Given the description of an element on the screen output the (x, y) to click on. 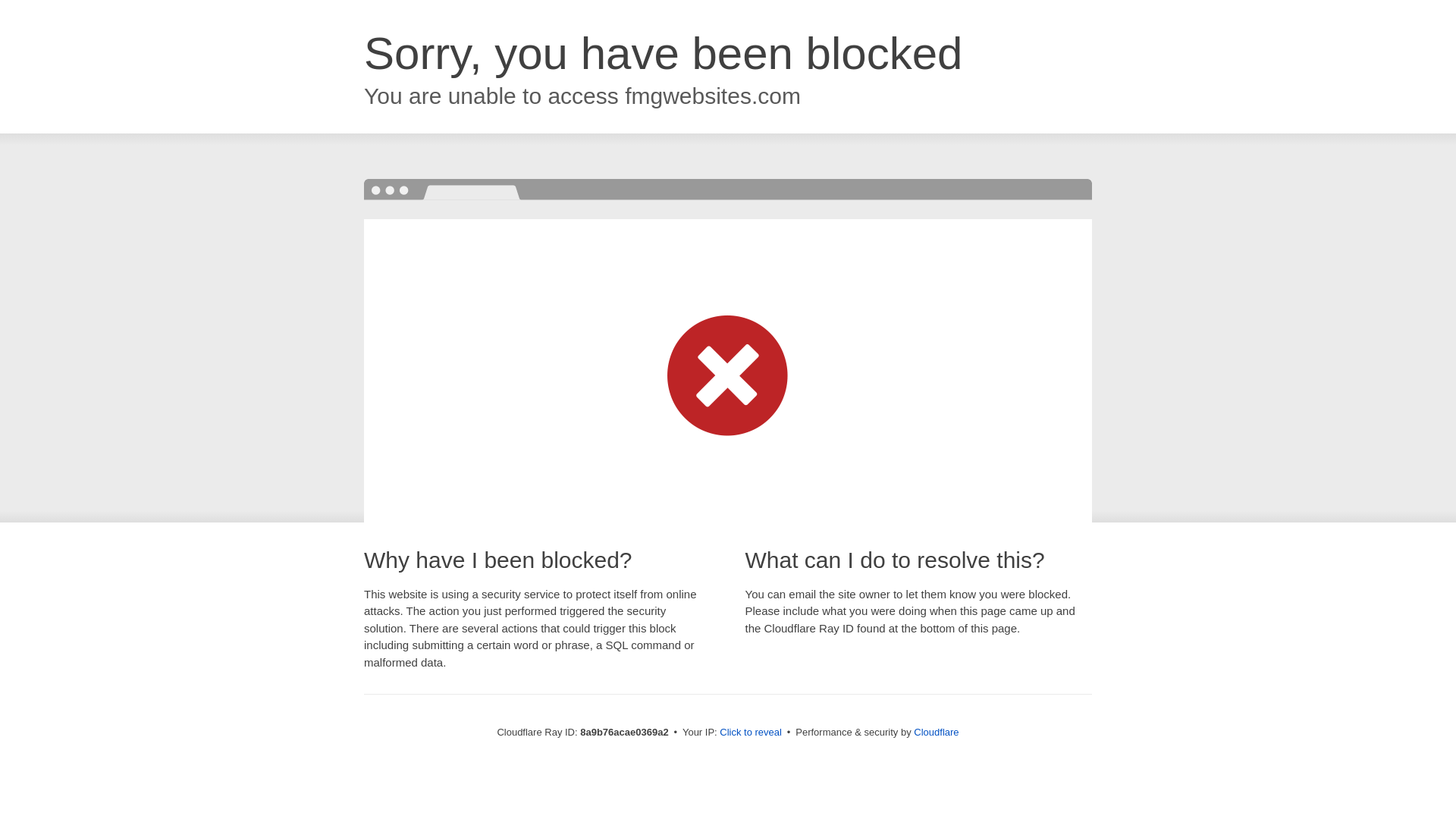
Click to reveal (750, 732)
Cloudflare (936, 731)
